Given the description of an element on the screen output the (x, y) to click on. 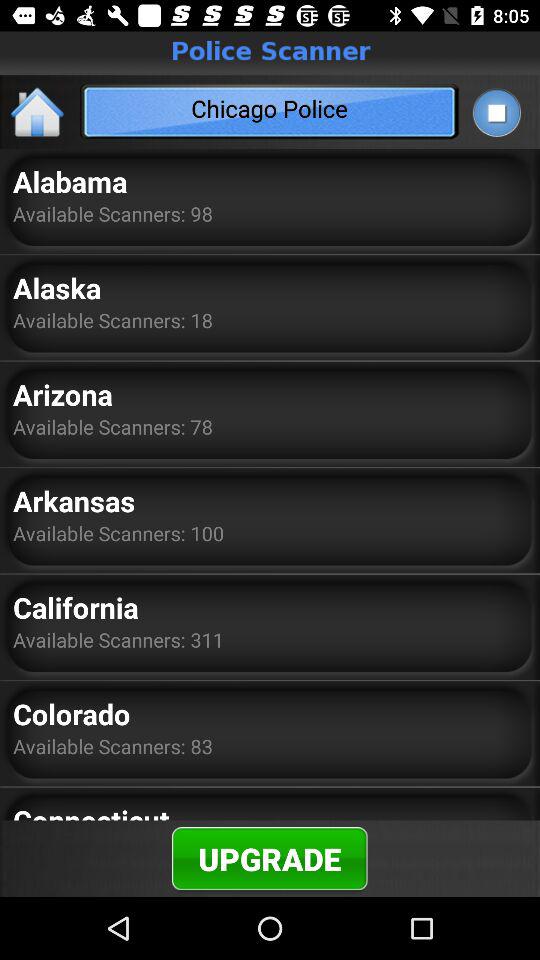
click on the green color button at bottom of the page (269, 857)
click on the icon at the top right corner of the house (496, 111)
